Given the description of an element on the screen output the (x, y) to click on. 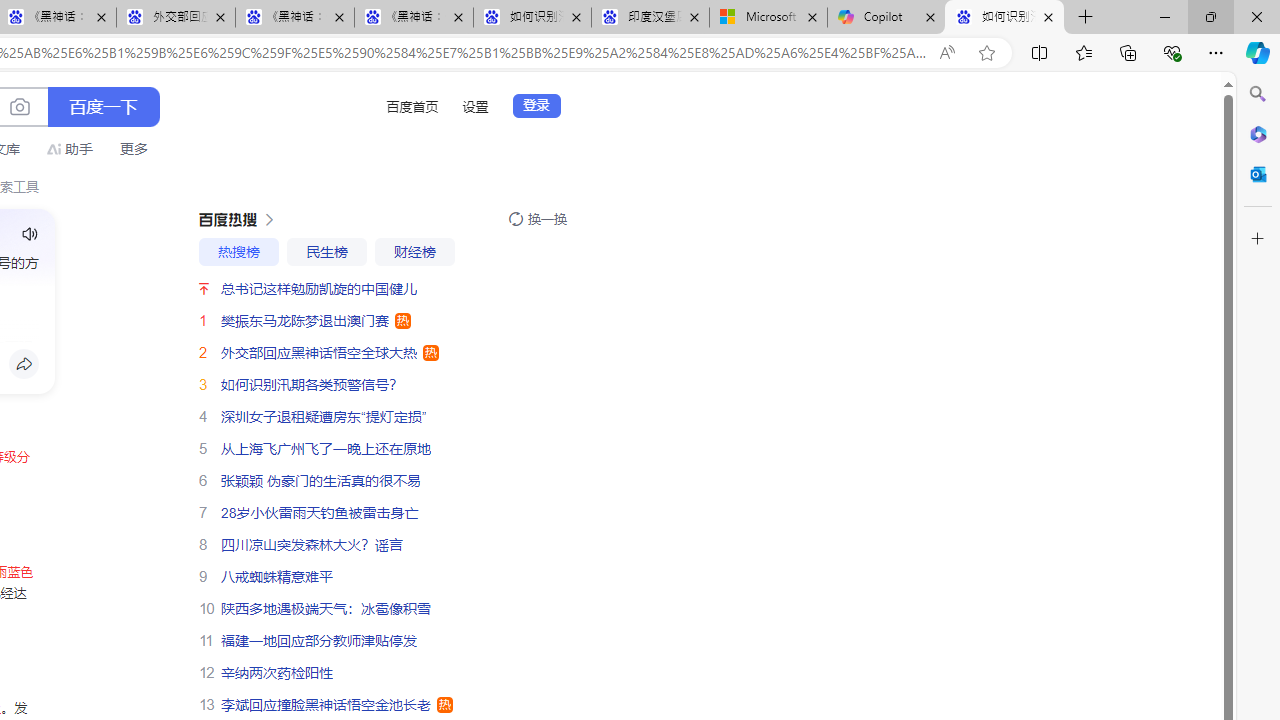
Class: sc-audio-svg _pause-icon_13ucw_87 (29, 233)
